Given the description of an element on the screen output the (x, y) to click on. 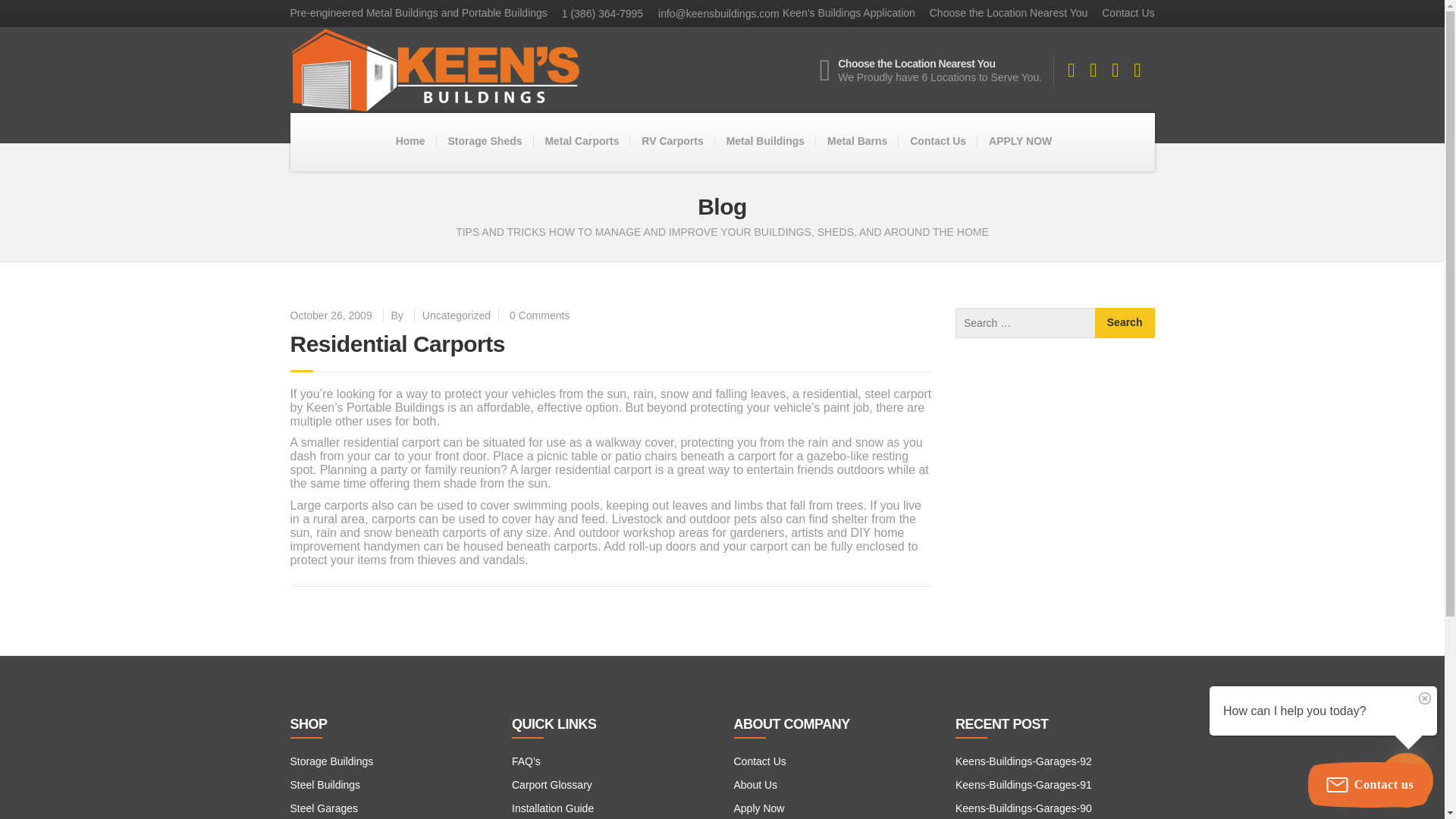
RV Carports (672, 141)
Contact Us (937, 142)
Metal Buildings (764, 142)
Search (1124, 322)
Choose the Location Nearest You (1002, 13)
Contact Us (1122, 13)
Steel Buildings (324, 784)
Storage Buildings (330, 761)
0 Comments (539, 315)
Search (1124, 322)
Storage Sheds (483, 142)
APPLY NOW (1019, 142)
Metal Barns (856, 142)
Home (410, 141)
